Given the description of an element on the screen output the (x, y) to click on. 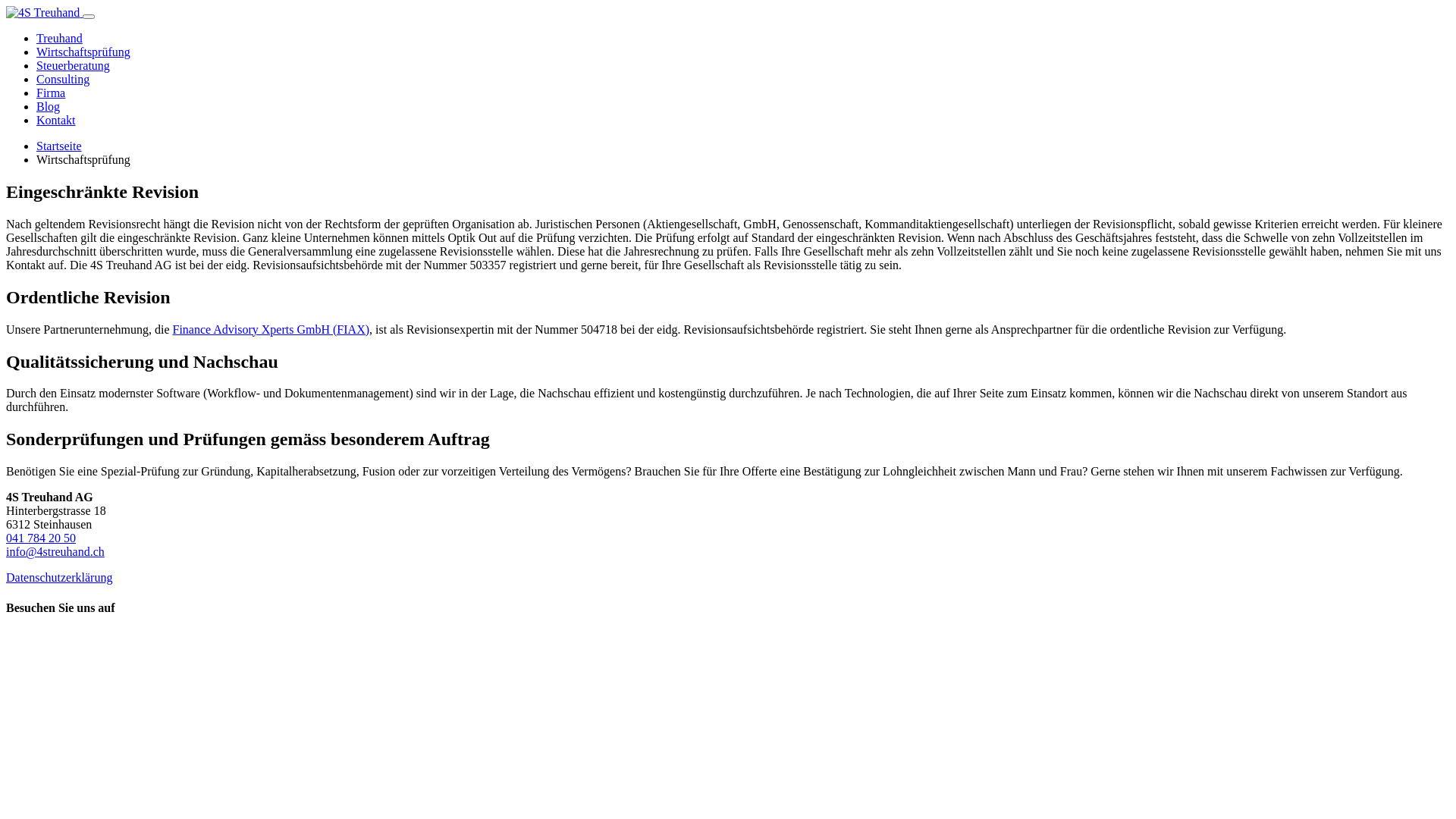
Steuerberatung Element type: text (72, 65)
Consulting Element type: text (62, 78)
Treuhand Element type: text (59, 37)
Blog Element type: text (47, 106)
041 784 20 50 Element type: text (40, 537)
Startseite Element type: text (58, 145)
Firma Element type: text (50, 92)
Kontakt Element type: text (55, 119)
Finance Advisory Xperts GmbH (FIAX) Element type: text (270, 329)
info@4streuhand.ch Element type: text (55, 551)
